Given the description of an element on the screen output the (x, y) to click on. 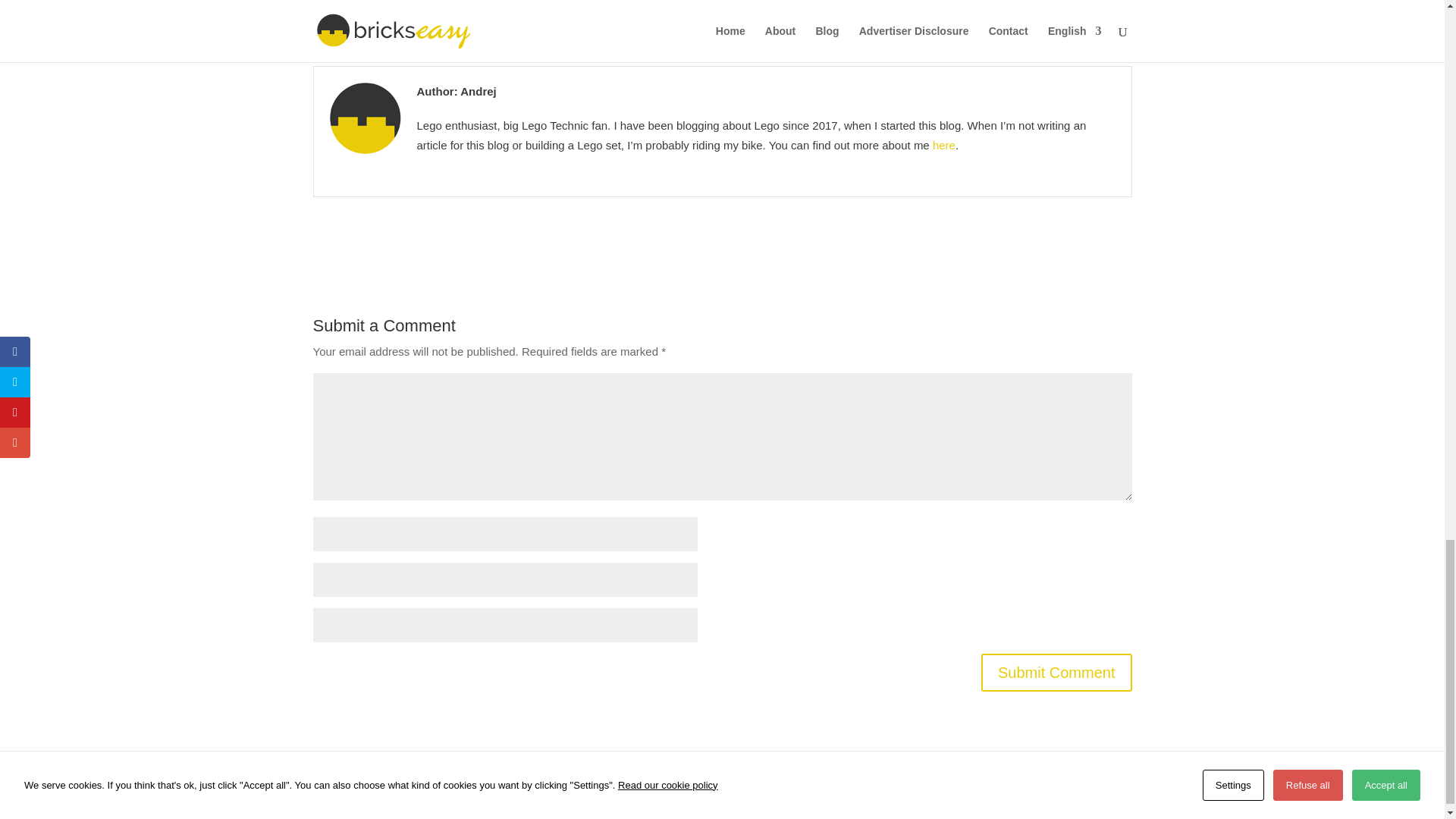
Submit Comment (1056, 672)
here (944, 144)
